Given the description of an element on the screen output the (x, y) to click on. 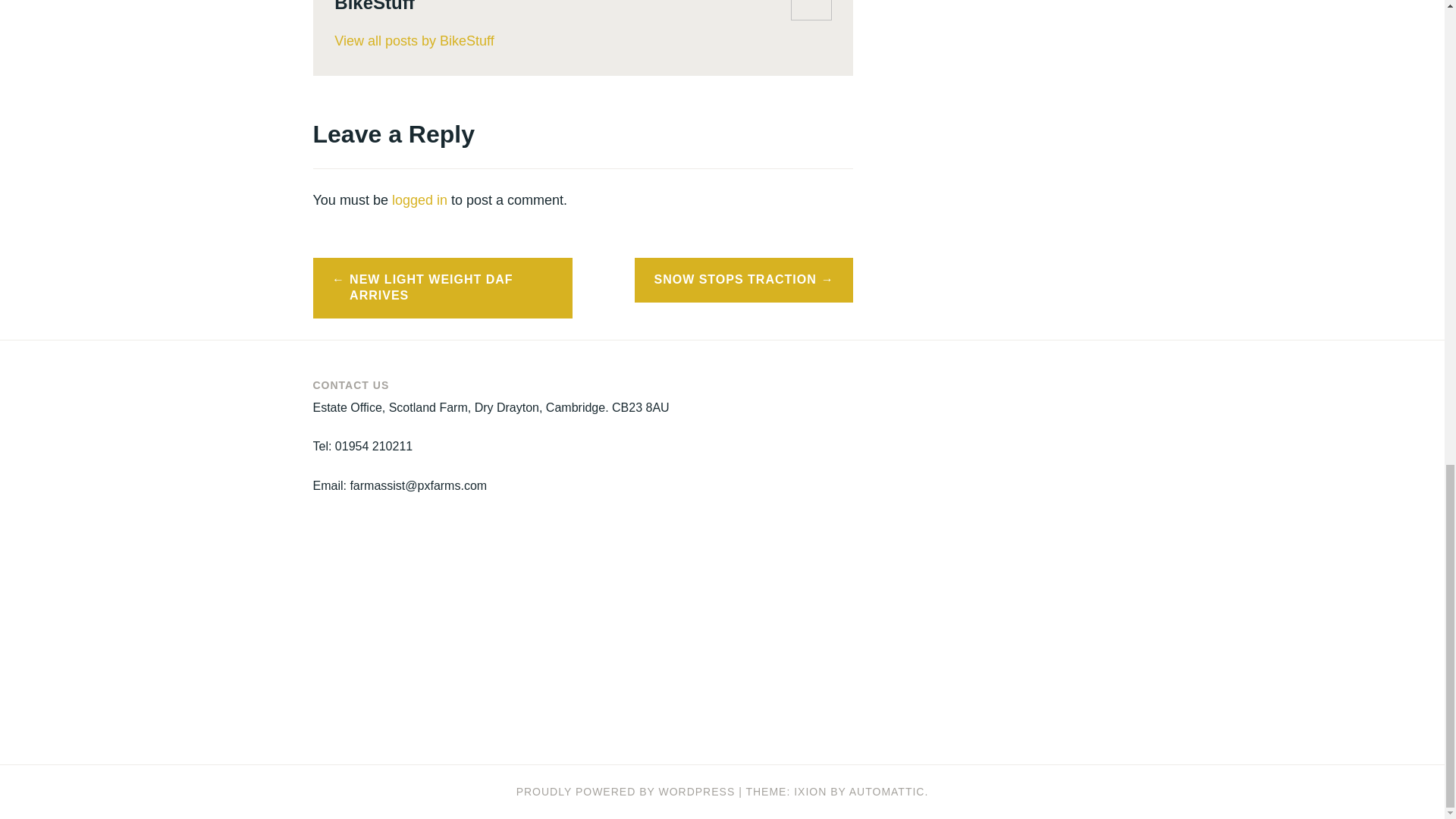
View all posts by BikeStuff (582, 41)
AUTOMATTIC (886, 791)
SNOW STOPS TRACTION (743, 279)
NEW LIGHT WEIGHT DAF ARRIVES (442, 287)
logged in (418, 200)
PROUDLY POWERED BY WORDPRESS (625, 791)
